Given the description of an element on the screen output the (x, y) to click on. 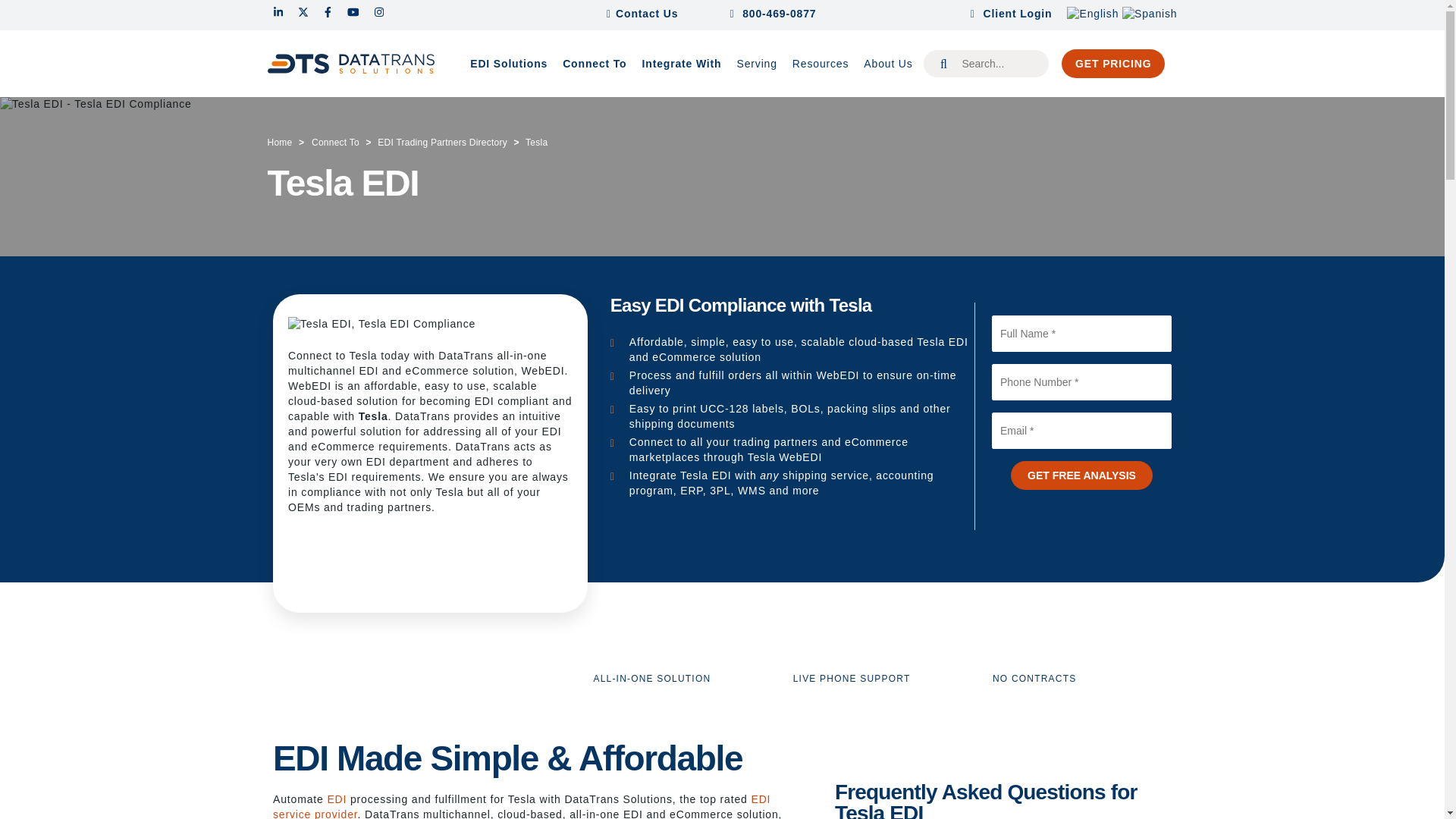
Contact Us (648, 14)
Connect To (593, 63)
get free analysis (1081, 475)
800-469-0877 (786, 14)
EDI Solutions (508, 63)
Integrate With (681, 63)
Client Login (1011, 14)
Spanish (1149, 13)
English (1092, 13)
Home - DataTrans Solutions (349, 63)
